Given the description of an element on the screen output the (x, y) to click on. 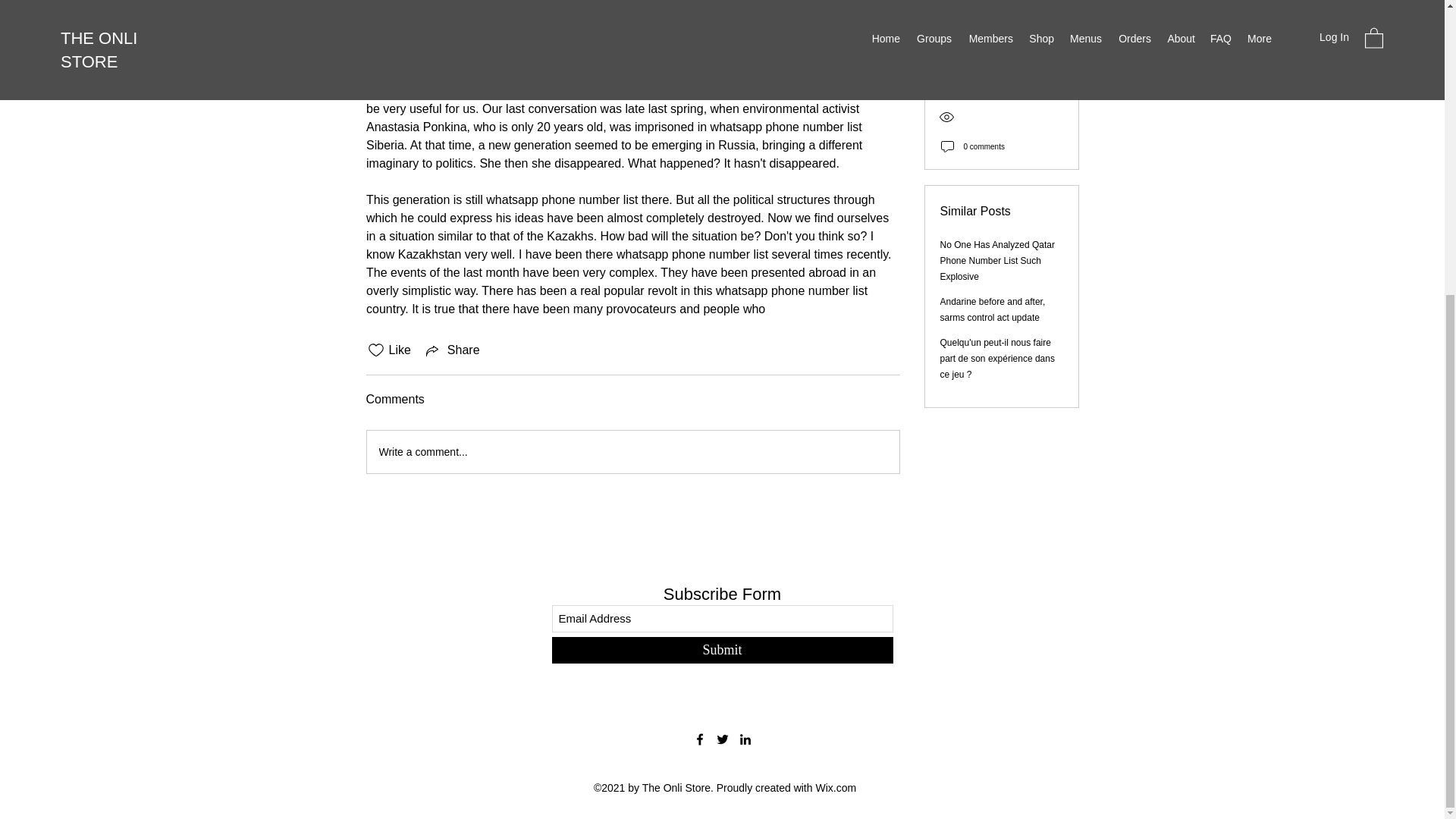
Write a comment... (632, 451)
whatsapp phone number list (655, 72)
Share (451, 350)
Andarine before and after, sarms control act update (992, 88)
Submit (722, 650)
No One Has Analyzed Qatar Phone Number List Such Explosive (997, 39)
